Given the description of an element on the screen output the (x, y) to click on. 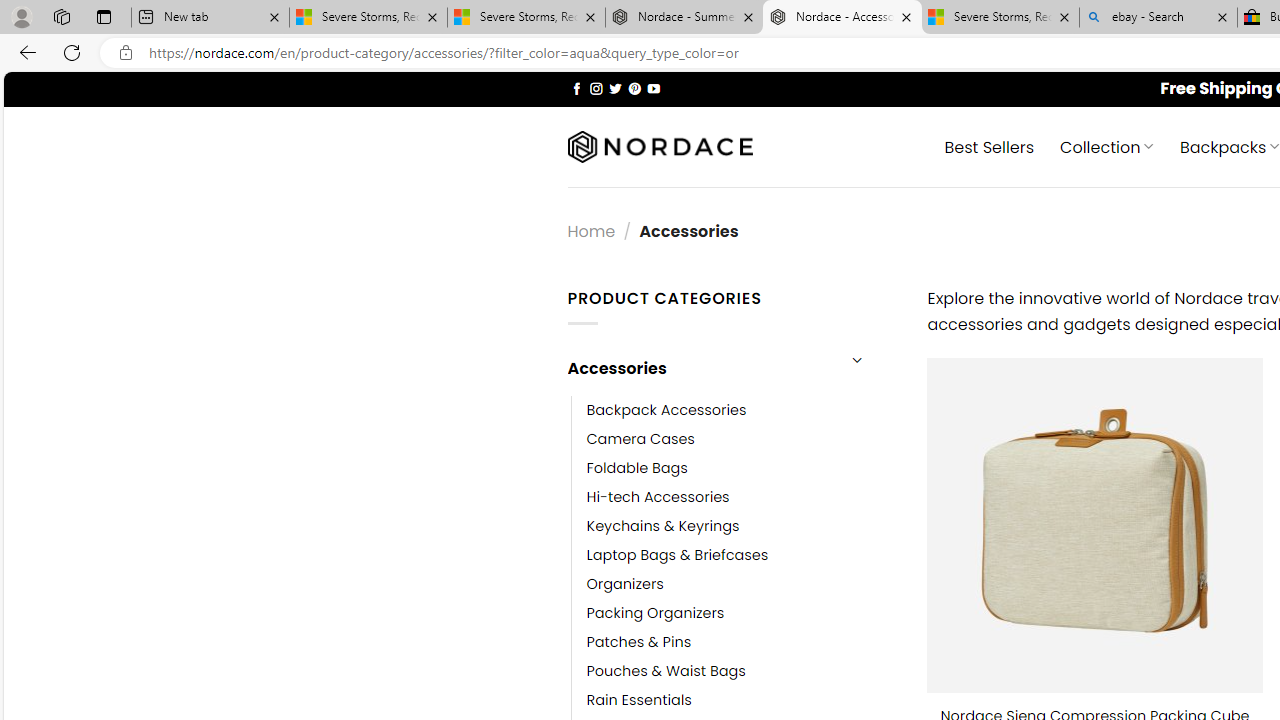
Rain Essentials (742, 700)
Camera Cases (742, 439)
Patches & Pins (742, 642)
